Given the description of an element on the screen output the (x, y) to click on. 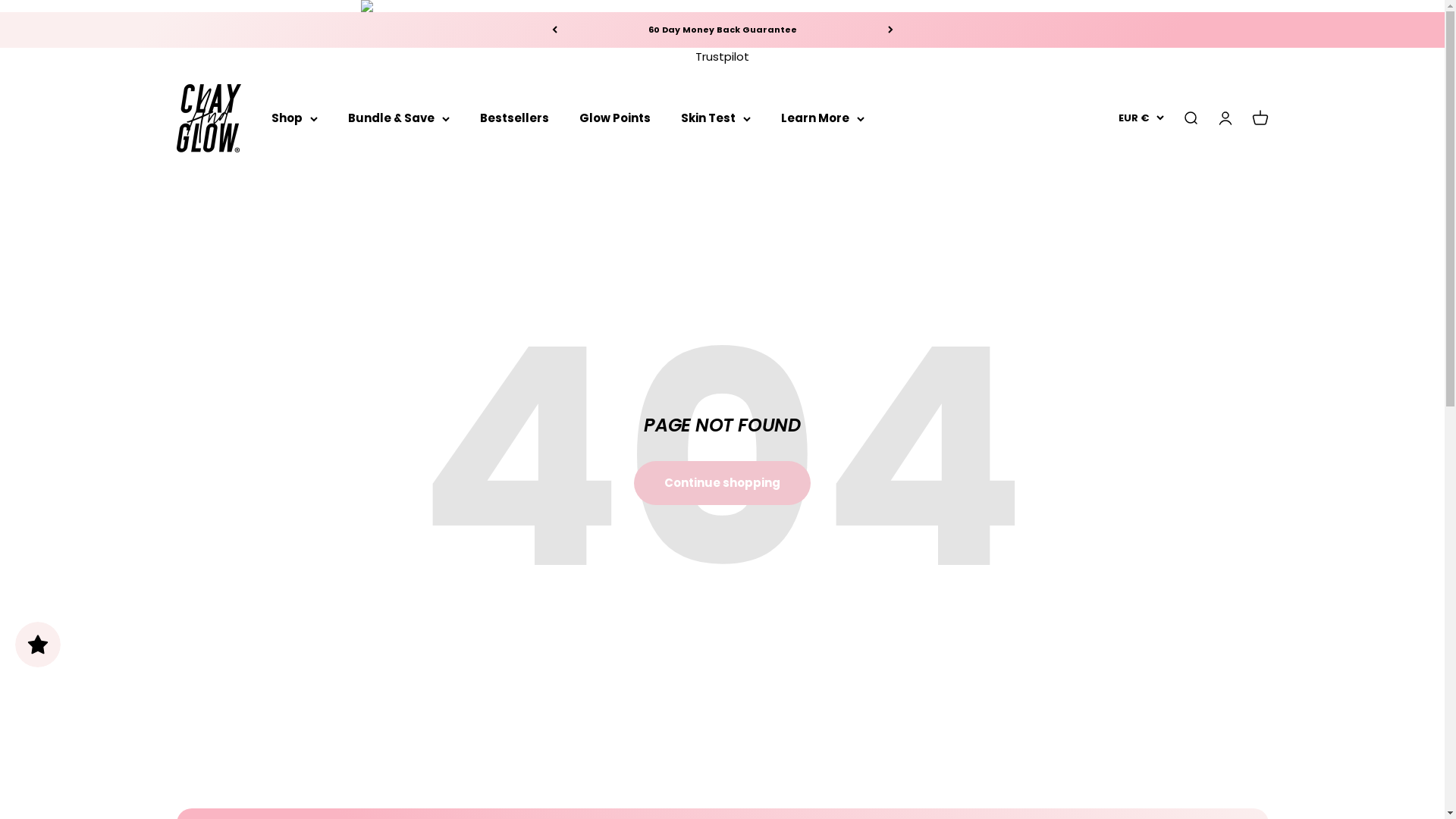
Glow Points Element type: text (614, 117)
Bestsellers Element type: text (513, 117)
Smile.io Rewards Program Launcher Element type: hover (37, 644)
Trustpilot Element type: text (722, 56)
Open cart
0 Element type: text (1259, 117)
Open search Element type: text (1189, 117)
Continue shopping Element type: text (721, 483)
Open account page Element type: text (1224, 117)
Clay And Glow Skincare Element type: text (207, 118)
